Given the description of an element on the screen output the (x, y) to click on. 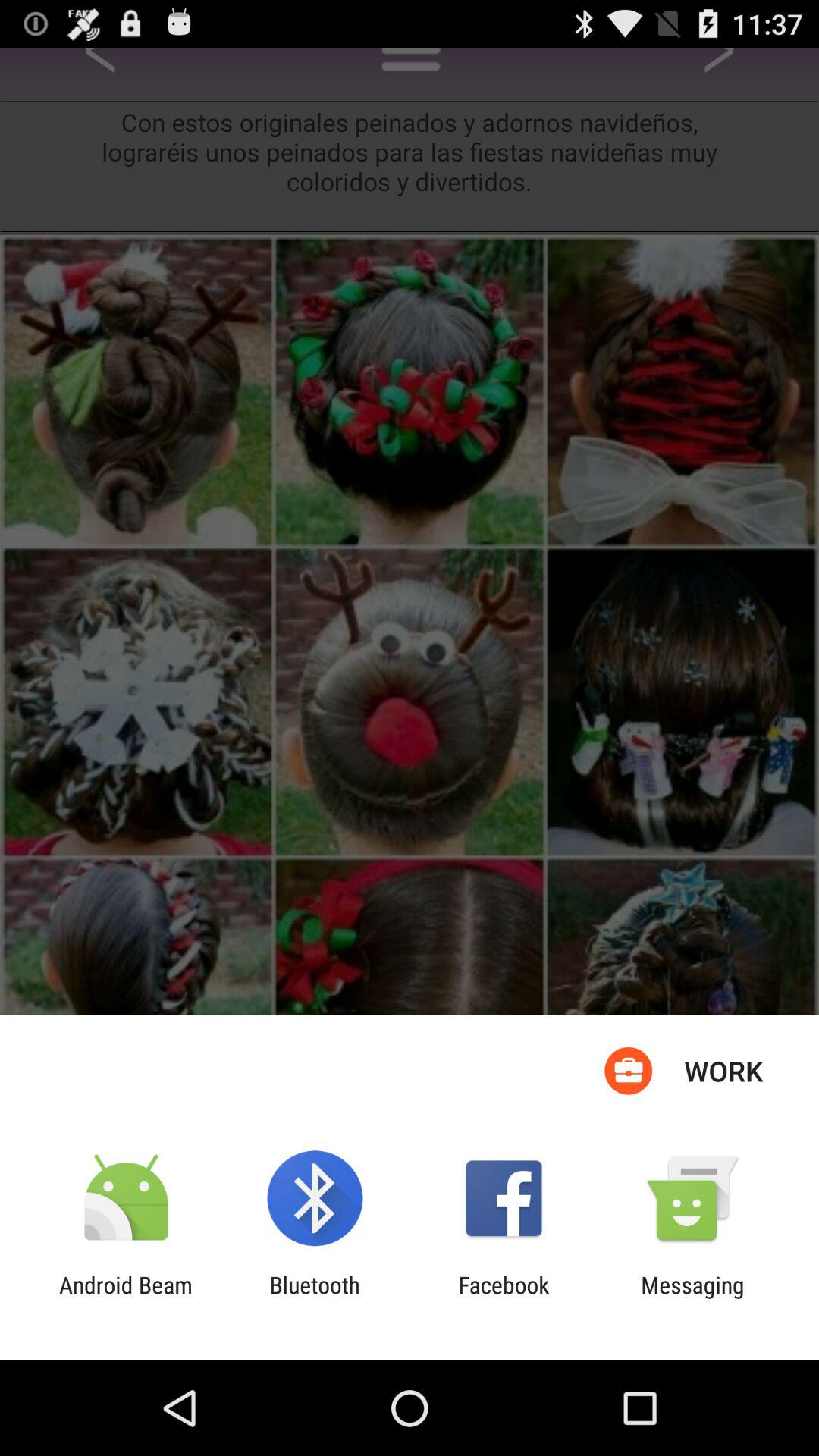
press the bluetooth item (314, 1298)
